Given the description of an element on the screen output the (x, y) to click on. 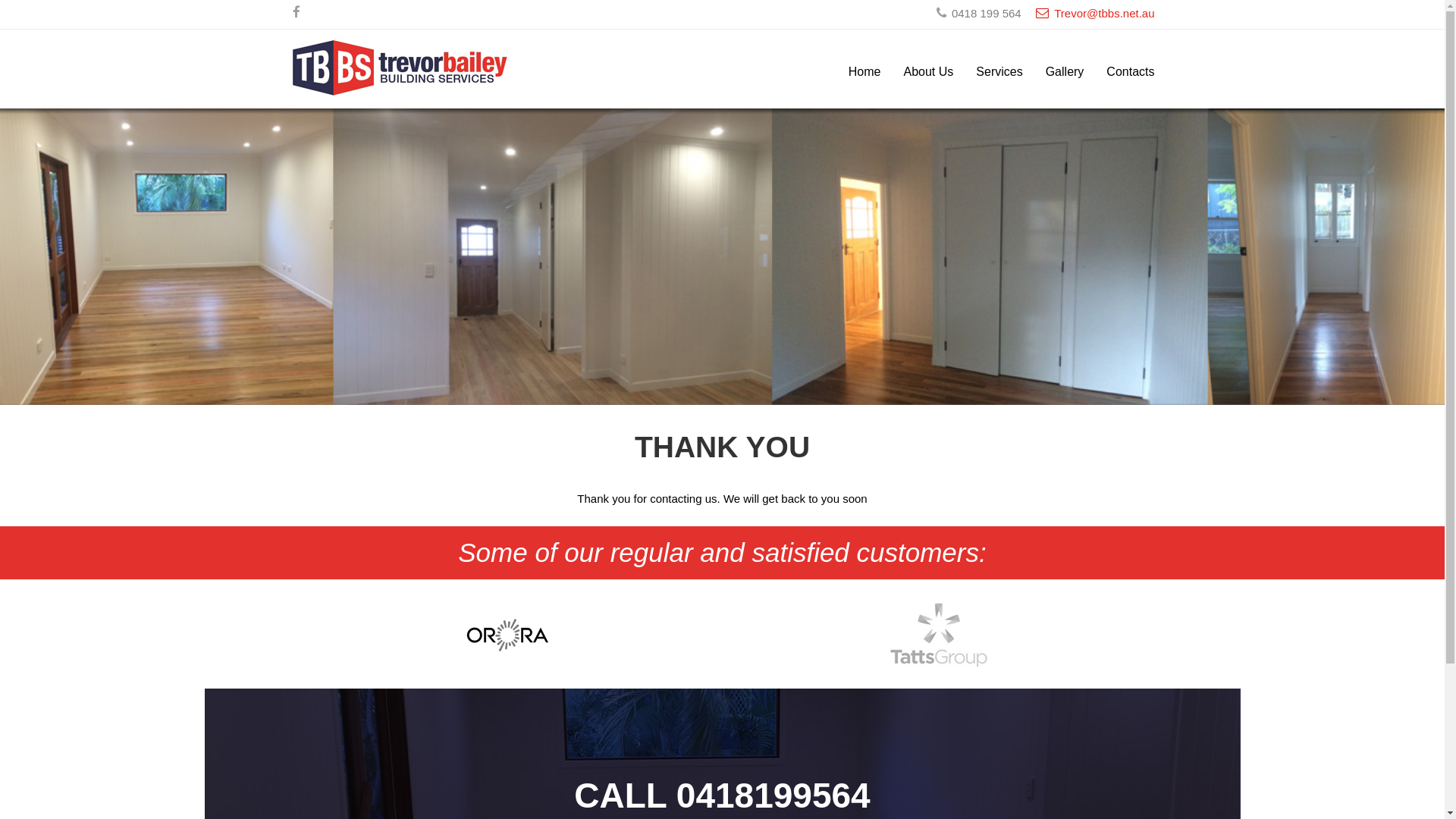
Services Element type: text (987, 72)
Home Element type: text (853, 72)
Contacts Element type: text (1118, 72)
Gallery Element type: text (1053, 72)
About Us Element type: text (917, 72)
Trevor@tbbs.net.au Element type: text (1093, 12)
